Given the description of an element on the screen output the (x, y) to click on. 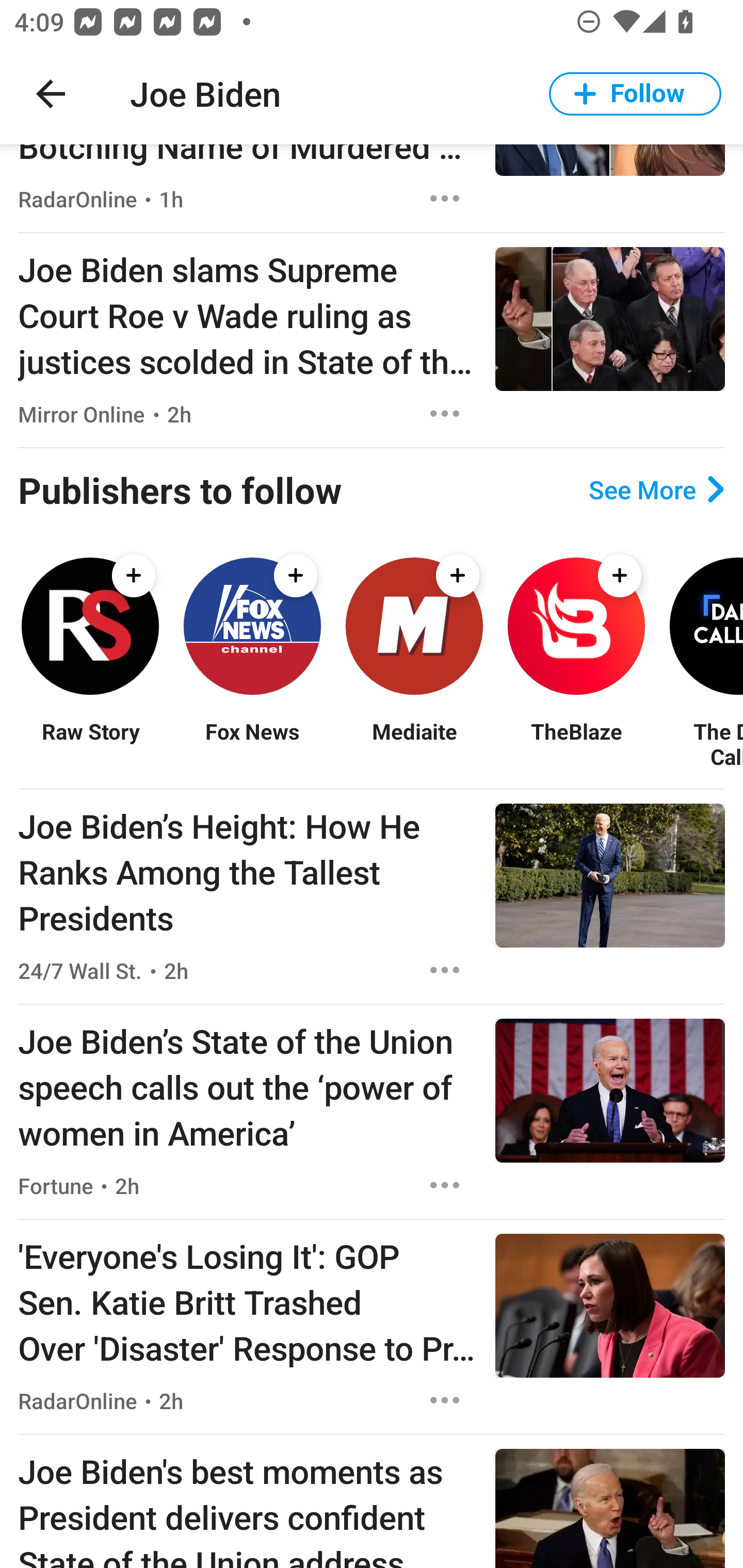
Navigate up (50, 93)
Follow (635, 94)
Options (444, 198)
Options (444, 413)
See More (656, 488)
Raw Story (89, 743)
Fox News (251, 743)
Mediaite (413, 743)
TheBlaze (575, 743)
Options (444, 970)
Options (444, 1185)
Options (444, 1400)
